Given the description of an element on the screen output the (x, y) to click on. 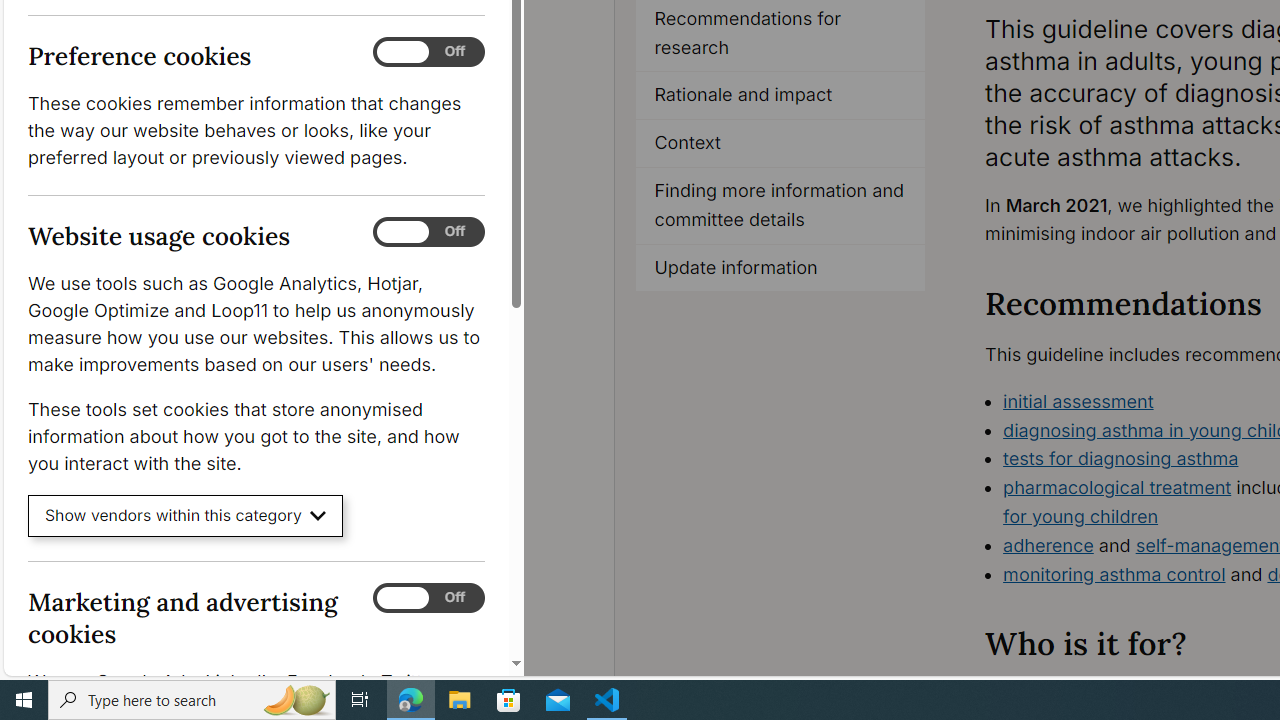
Rationale and impact (780, 96)
Preference cookies (429, 52)
Rationale and impact (781, 96)
Website usage cookies (429, 232)
Context (781, 143)
adherence (1048, 544)
Update information (781, 268)
Finding more information and committee details (780, 205)
Context (780, 143)
monitoring asthma control (1114, 573)
Finding more information and committee details (781, 205)
pharmacological treatment (1117, 487)
for young children (1080, 515)
tests for diagnosing asthma (1121, 458)
initial assessment (1078, 400)
